Given the description of an element on the screen output the (x, y) to click on. 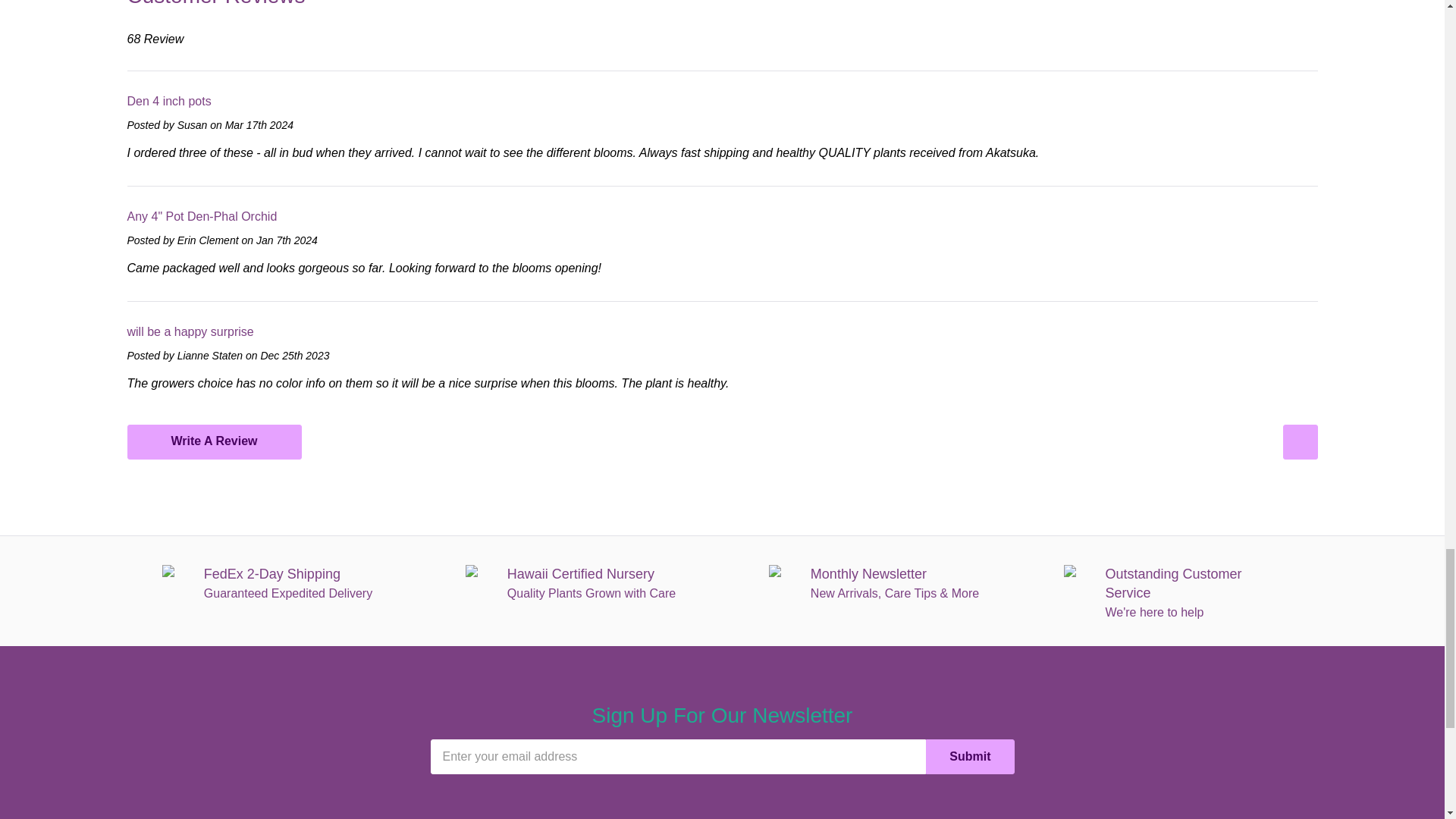
Submit (969, 756)
